Given the description of an element on the screen output the (x, y) to click on. 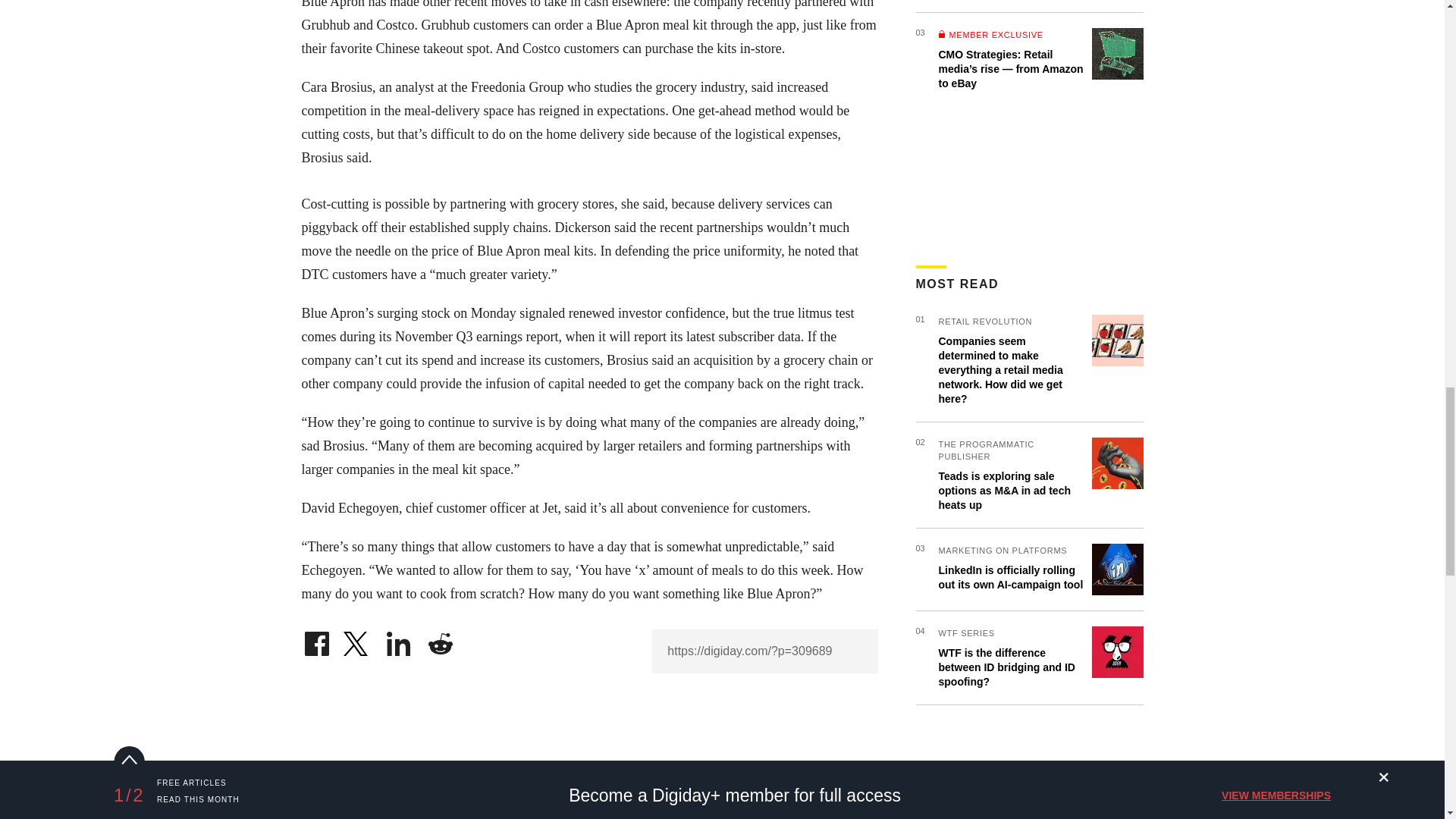
Share on Facebook (316, 639)
Share on LinkedIn (398, 639)
Share on Reddit (440, 639)
Share on Twitter (357, 639)
